Given the description of an element on the screen output the (x, y) to click on. 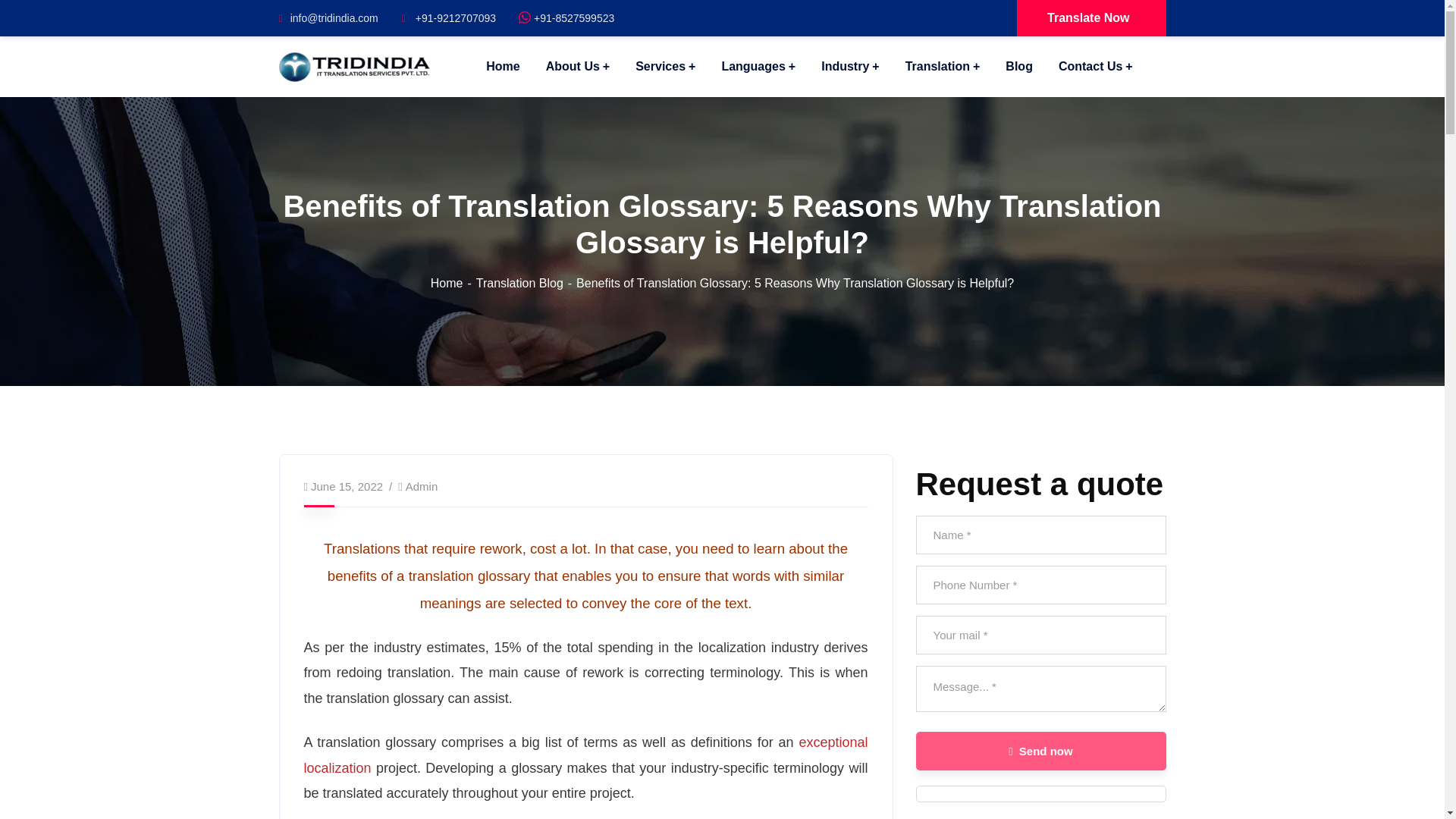
Services (664, 66)
About Us (578, 66)
Tridindia (354, 65)
Posts by Admin (422, 486)
Translate Now (1091, 18)
